Given the description of an element on the screen output the (x, y) to click on. 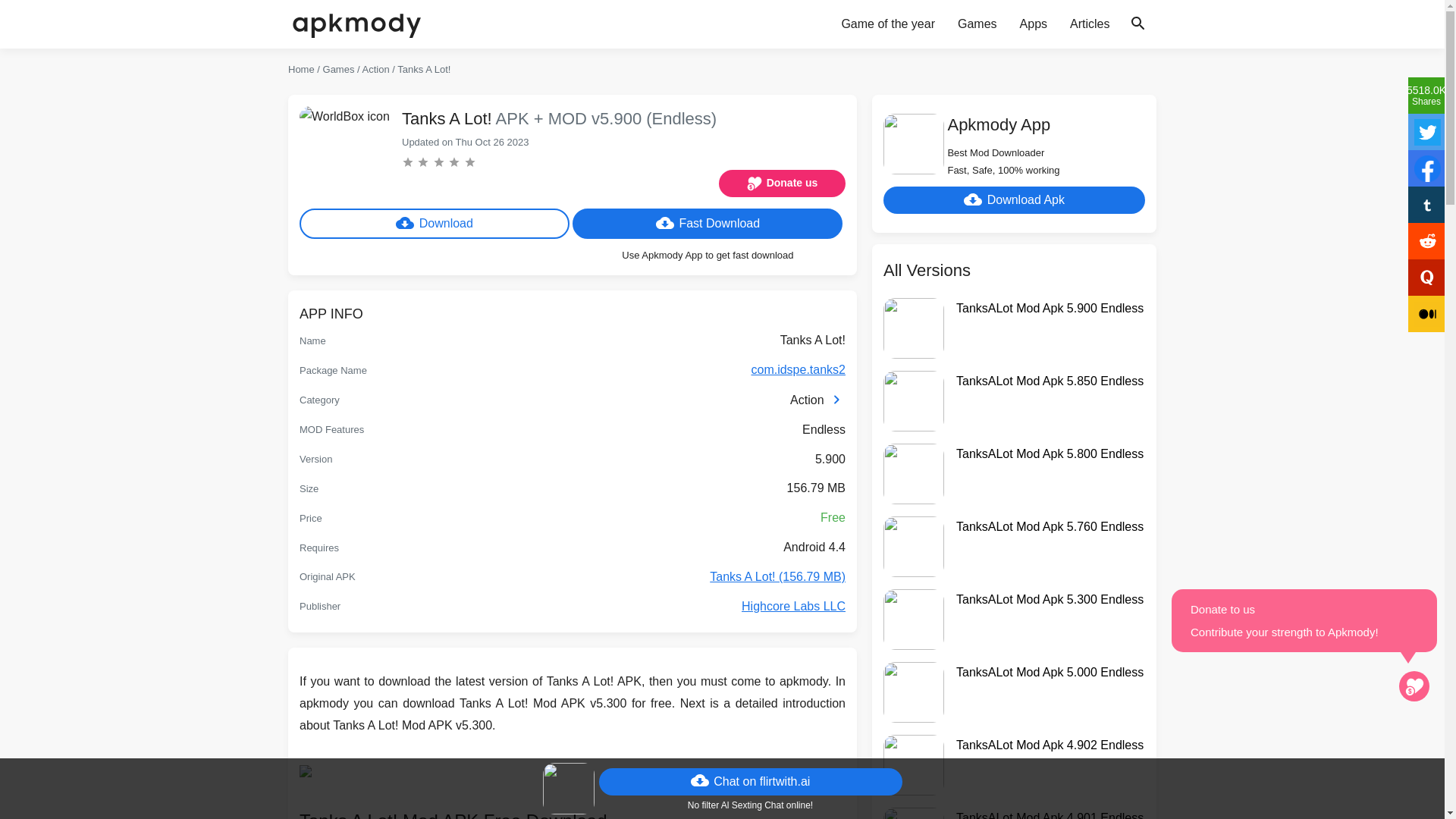
Games (977, 24)
Download (434, 223)
Download Apk (1013, 199)
Apps (1033, 24)
TanksALot Mod Apk 5.900 Endless (1050, 309)
TanksALot Mod Apk 5.850 Endless (1050, 382)
Articles (1089, 24)
Fast Download (707, 223)
Game of the year (887, 24)
Home (301, 69)
